Given the description of an element on the screen output the (x, y) to click on. 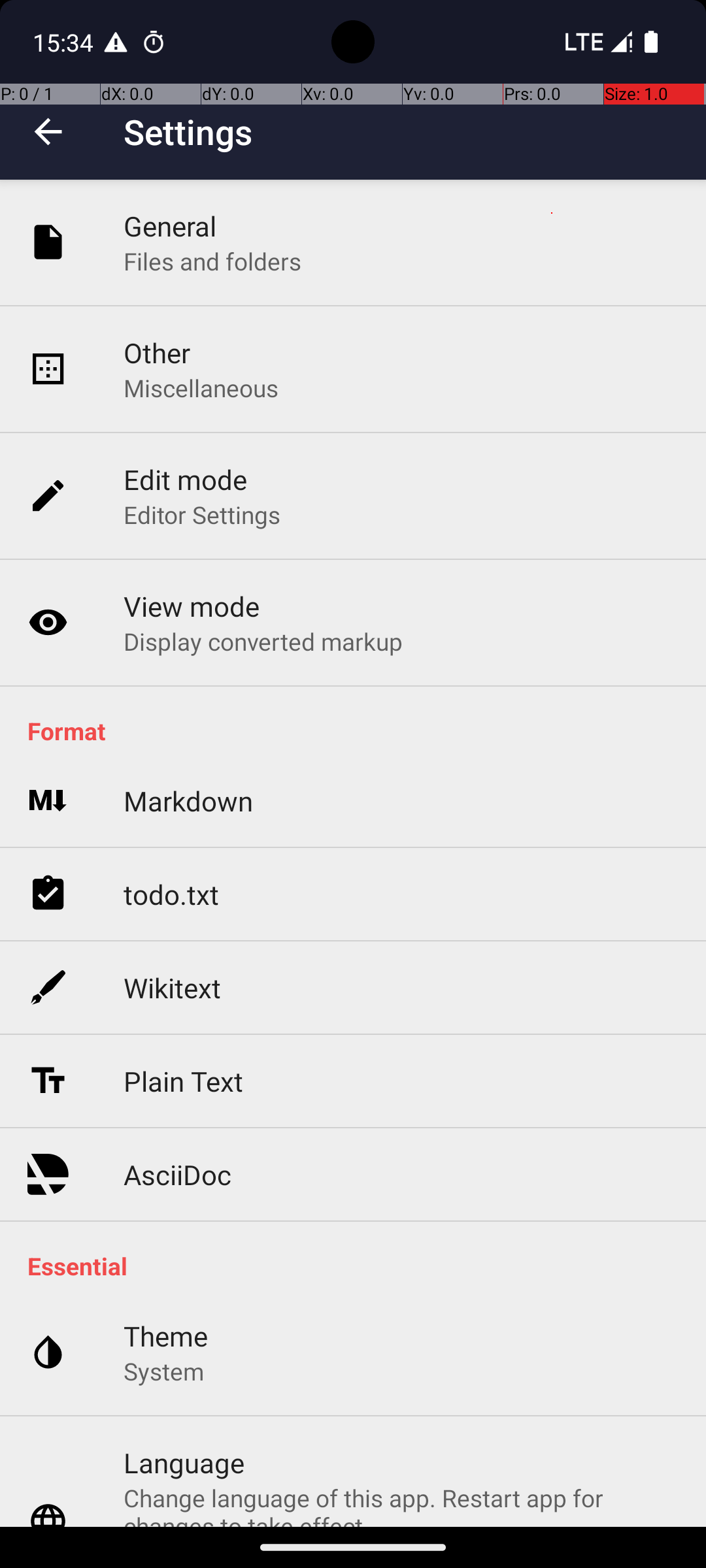
Essential Element type: android.widget.TextView (359, 1265)
General Element type: android.widget.TextView (170, 225)
Files and folders Element type: android.widget.TextView (212, 260)
Other Element type: android.widget.TextView (156, 352)
Miscellaneous Element type: android.widget.TextView (200, 387)
Editor Settings Element type: android.widget.TextView (202, 514)
Display converted markup Element type: android.widget.TextView (263, 640)
Theme Element type: android.widget.TextView (165, 1335)
System Element type: android.widget.TextView (163, 1370)
Language Element type: android.widget.TextView (183, 1462)
Change language of this app. Restart app for changes to take effect

English (English, United States) Element type: android.widget.TextView (400, 1503)
